Given the description of an element on the screen output the (x, y) to click on. 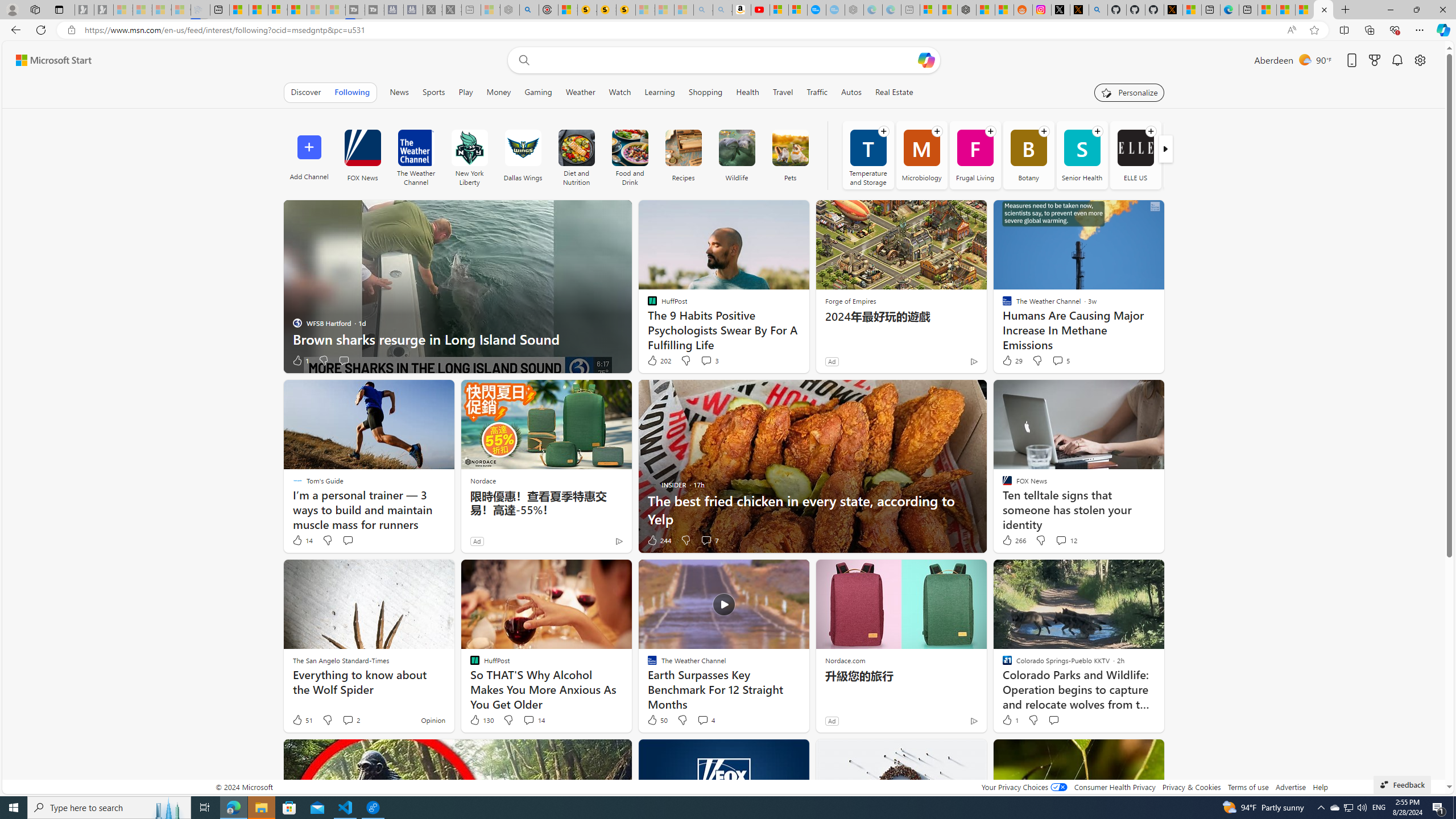
Learning (659, 92)
Microbiology (921, 155)
Notifications (1397, 60)
Wildlife (736, 147)
New York Liberty (469, 147)
Real Estate (893, 92)
Follow channel (1150, 130)
Recipes (683, 147)
Ad (831, 720)
The Weather Channel (416, 155)
News (399, 92)
Terms of use (1247, 786)
